Given the description of an element on the screen output the (x, y) to click on. 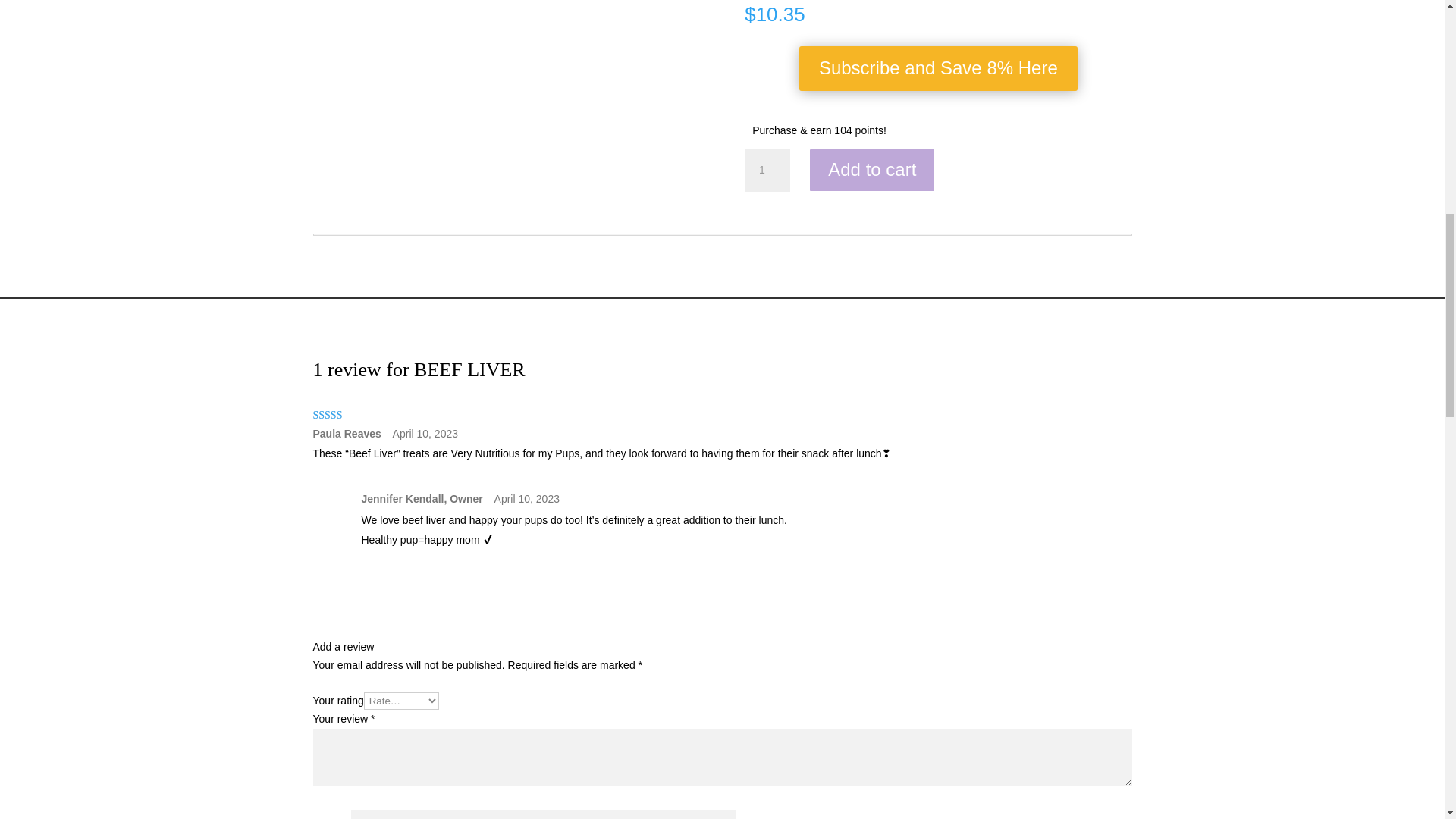
1 (767, 170)
Add to cart (872, 170)
